Given the description of an element on the screen output the (x, y) to click on. 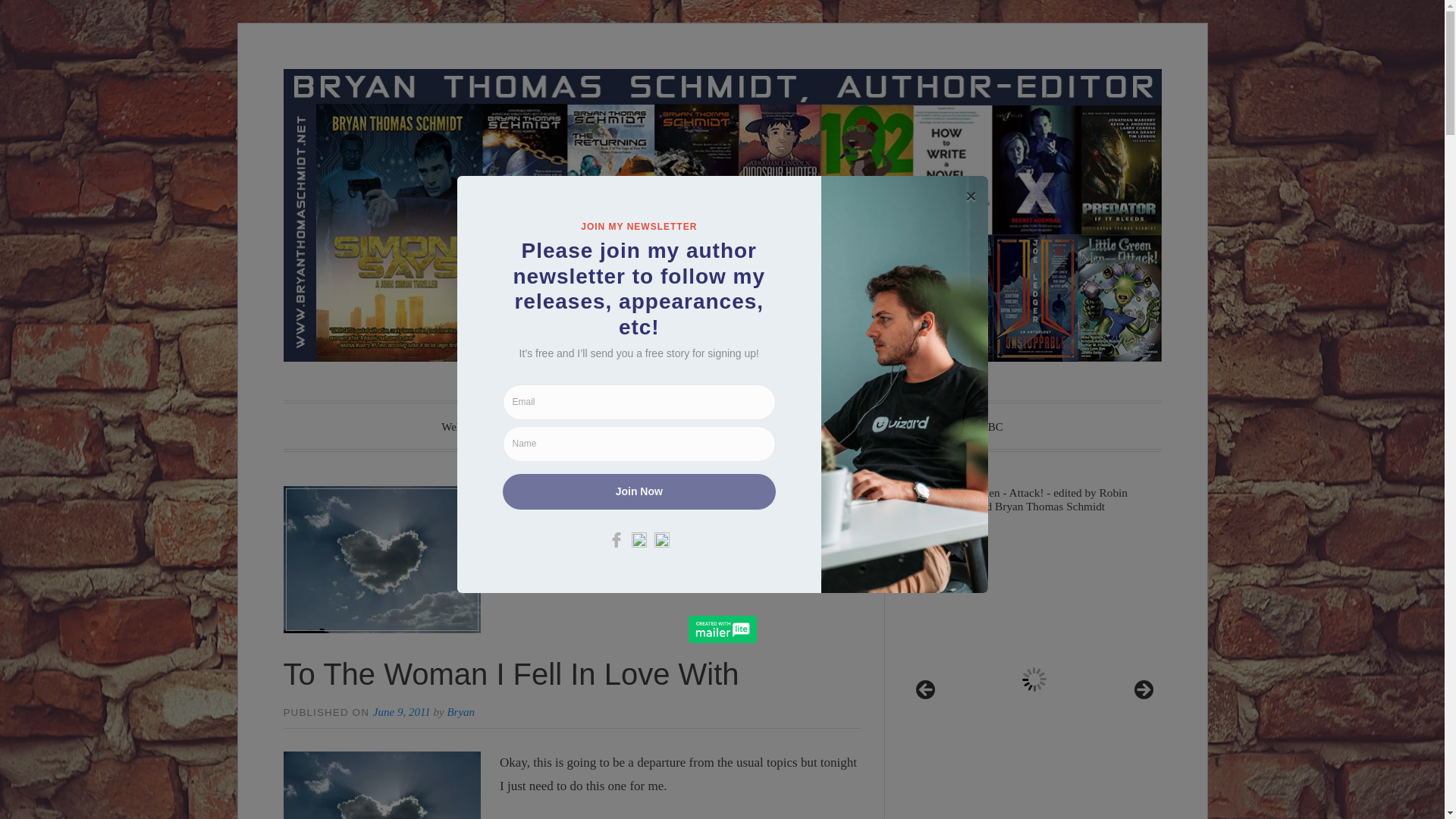
Welcome (462, 427)
heart cloud love (381, 785)
Works (540, 426)
